Given the description of an element on the screen output the (x, y) to click on. 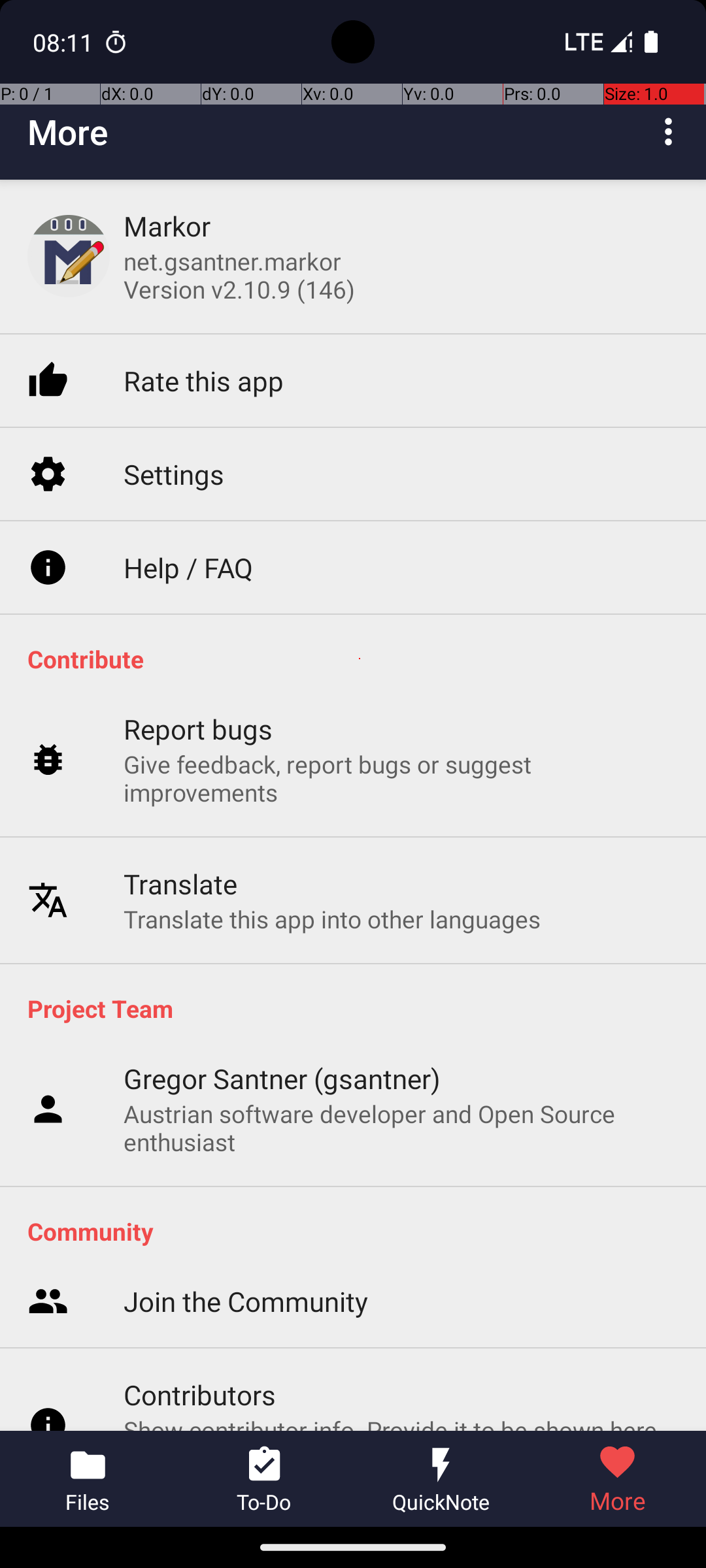
Contribute Element type: android.widget.TextView (359, 658)
Project Team Element type: android.widget.TextView (359, 1008)
Community Element type: android.widget.TextView (359, 1230)
net.gsantner.markor
Version v2.10.9 (146) Element type: android.widget.TextView (239, 274)
Rate this app Element type: android.widget.TextView (203, 320)
Help / FAQ Element type: android.widget.TextView (188, 504)
Report bugs Element type: android.widget.TextView (198, 665)
Give feedback, report bugs or suggest improvements Element type: android.widget.TextView (400, 714)
Translate Element type: android.widget.TextView (180, 818)
Translate this app into other languages Element type: android.widget.TextView (331, 853)
Gregor Santner (gsantner) Element type: android.widget.TextView (281, 1077)
Austrian software developer and Open Source enthusiast Element type: android.widget.TextView (400, 1127)
Join the Community Element type: android.widget.TextView (245, 1098)
Contributors Element type: android.widget.TextView (199, 1190)
Show contributor info. Provide it to be shown here on an opt-in basis after contributing Element type: android.widget.TextView (400, 1239)
08:11 Element type: android.widget.TextView (64, 41)
